Given the description of an element on the screen output the (x, y) to click on. 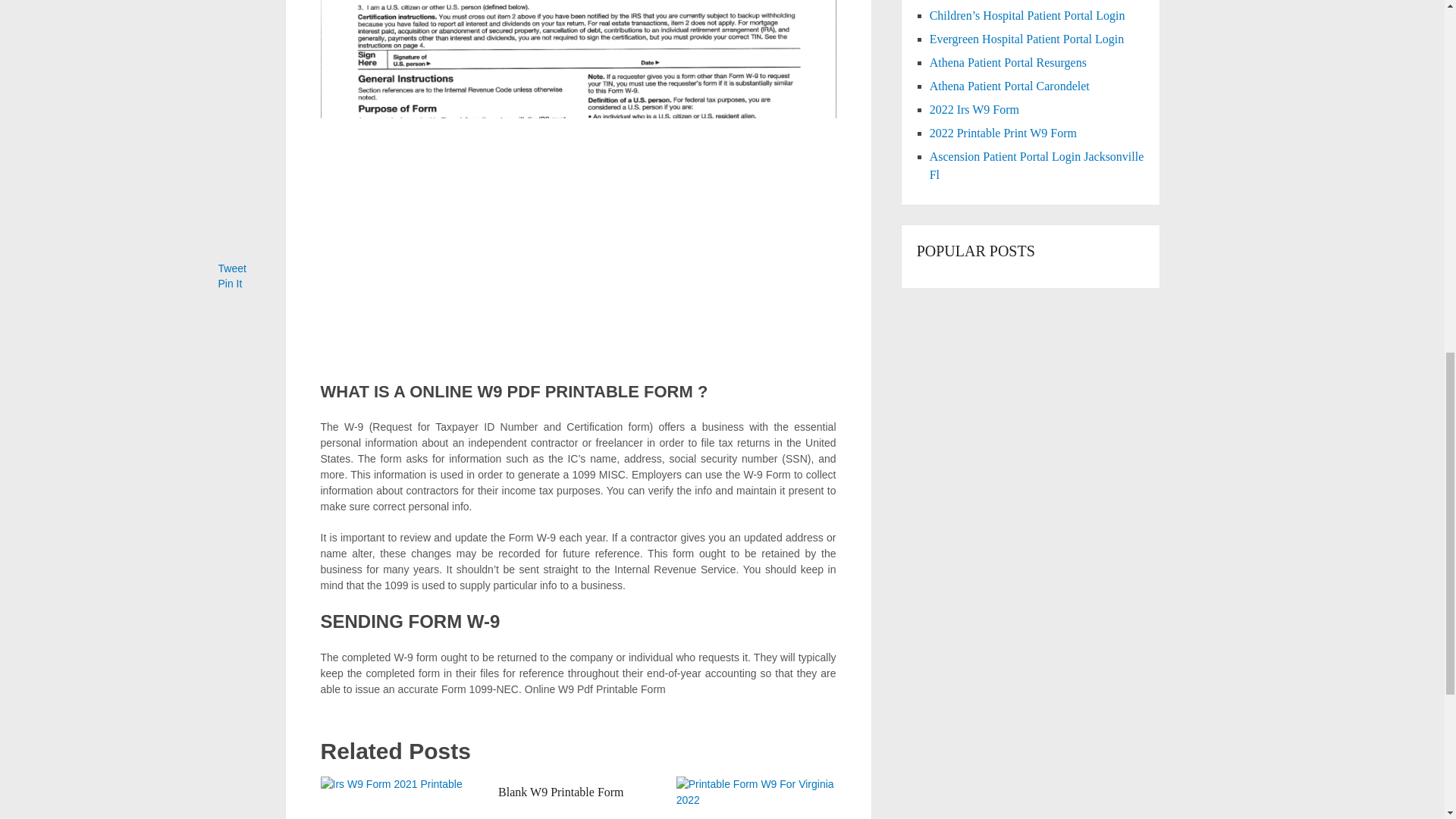
Blank W9 Printable Form (560, 791)
Irs W9 Form 2021 Printable (400, 797)
Ascension Patient Portal Login Jacksonville Fl (1037, 164)
2022 Irs W9 Form (974, 109)
Athena Patient Portal Resurgens (1008, 62)
Athena Patient Portal Carondelet (1009, 85)
2022 Printable Print W9 Form (1003, 132)
Blank W9 Printable Form (560, 791)
Evergreen Hospital Patient Portal Login (1027, 38)
Printable Form W9 For Virginia 2022 (756, 797)
